Given the description of an element on the screen output the (x, y) to click on. 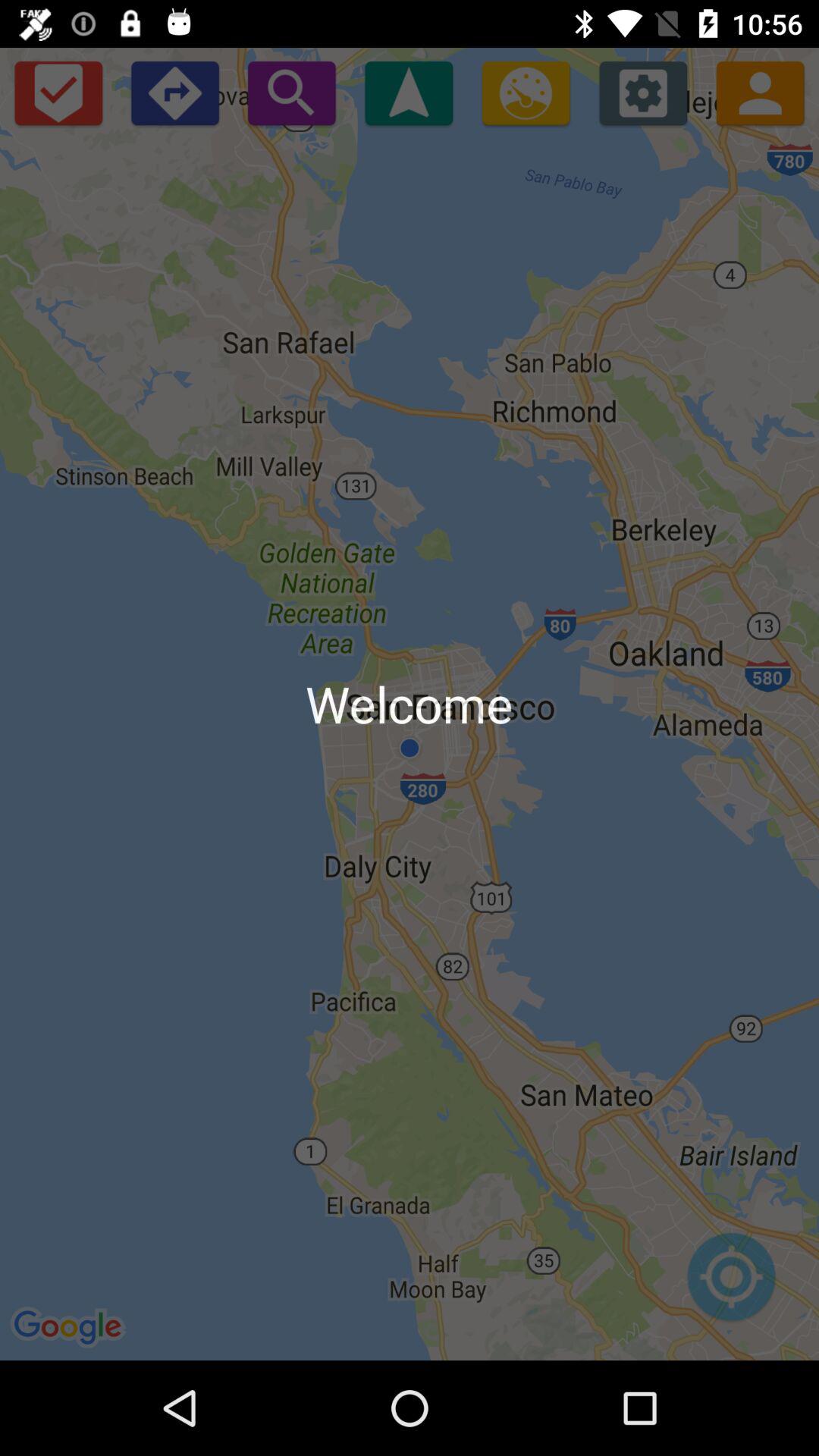
choose app above welcome icon (408, 92)
